Given the description of an element on the screen output the (x, y) to click on. 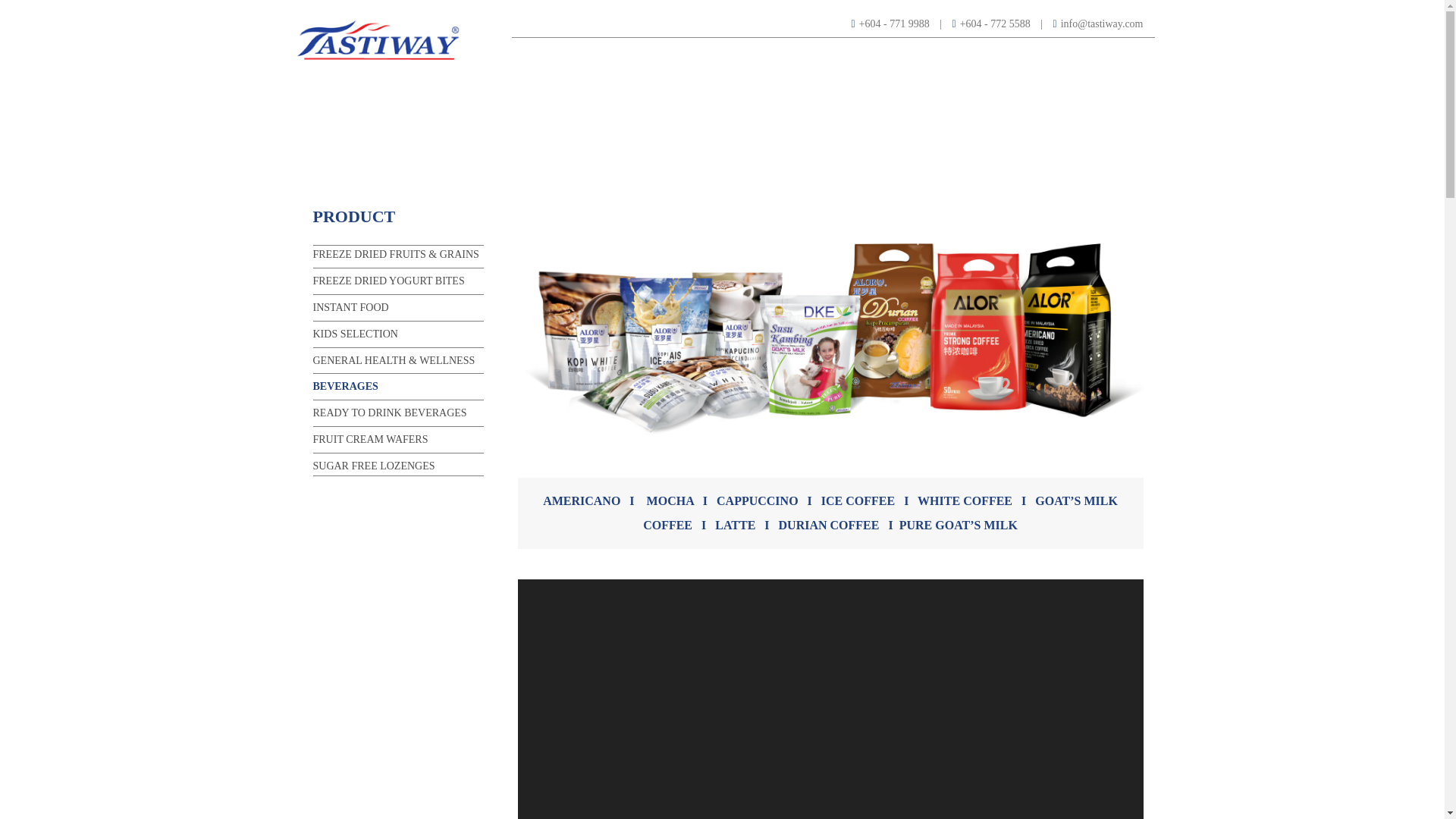
CAREERS (1033, 54)
FREEZE DRIED YOGURT BITES (388, 280)
CONTACTS (1104, 54)
PRODUCT (903, 54)
TASTIWAY SDN BHD (376, 38)
E-SHOP (968, 54)
ABOUT (716, 54)
HOME (661, 54)
INSTANT FOOD (350, 307)
